Given the description of an element on the screen output the (x, y) to click on. 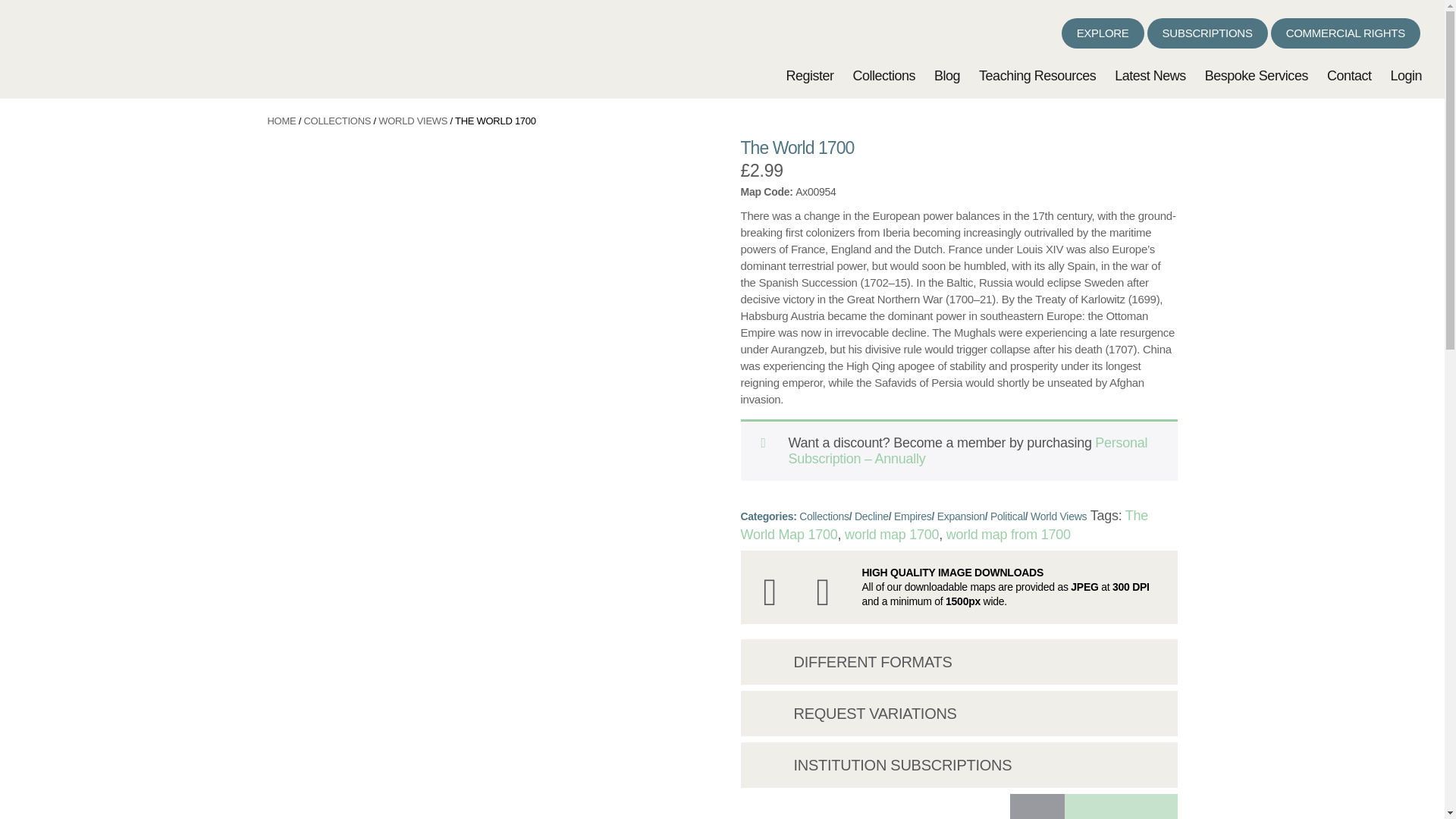
HOME (280, 120)
COLLECTIONS (336, 120)
Collections (823, 516)
Blog (946, 76)
Political (1007, 516)
WORLD VIEWS (412, 120)
Different Formats (774, 657)
Register (809, 76)
Expansion (961, 516)
Login (1406, 76)
